Given the description of an element on the screen output the (x, y) to click on. 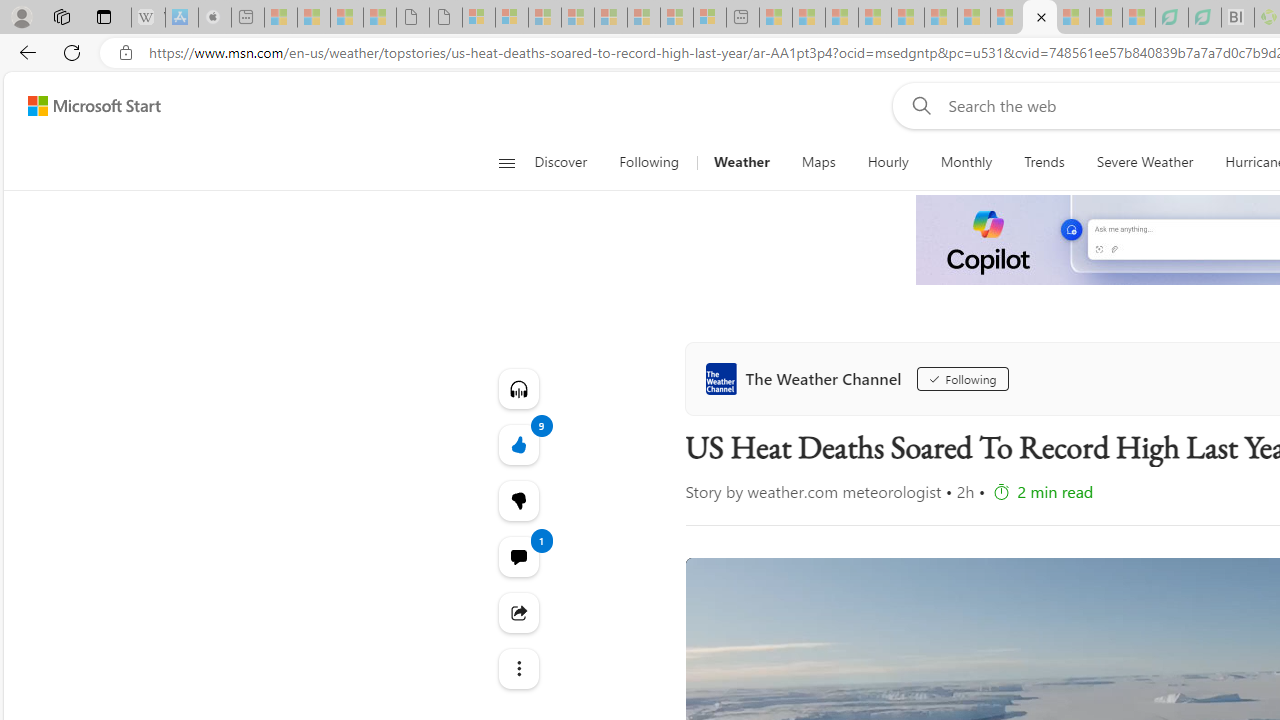
Wikipedia - Sleeping (148, 17)
Marine life - MSN - Sleeping (808, 17)
Web search (917, 105)
Share this story (517, 612)
Open navigation menu (506, 162)
LendingTree - Compare Lenders - Sleeping (1205, 17)
Hourly (887, 162)
